Given the description of an element on the screen output the (x, y) to click on. 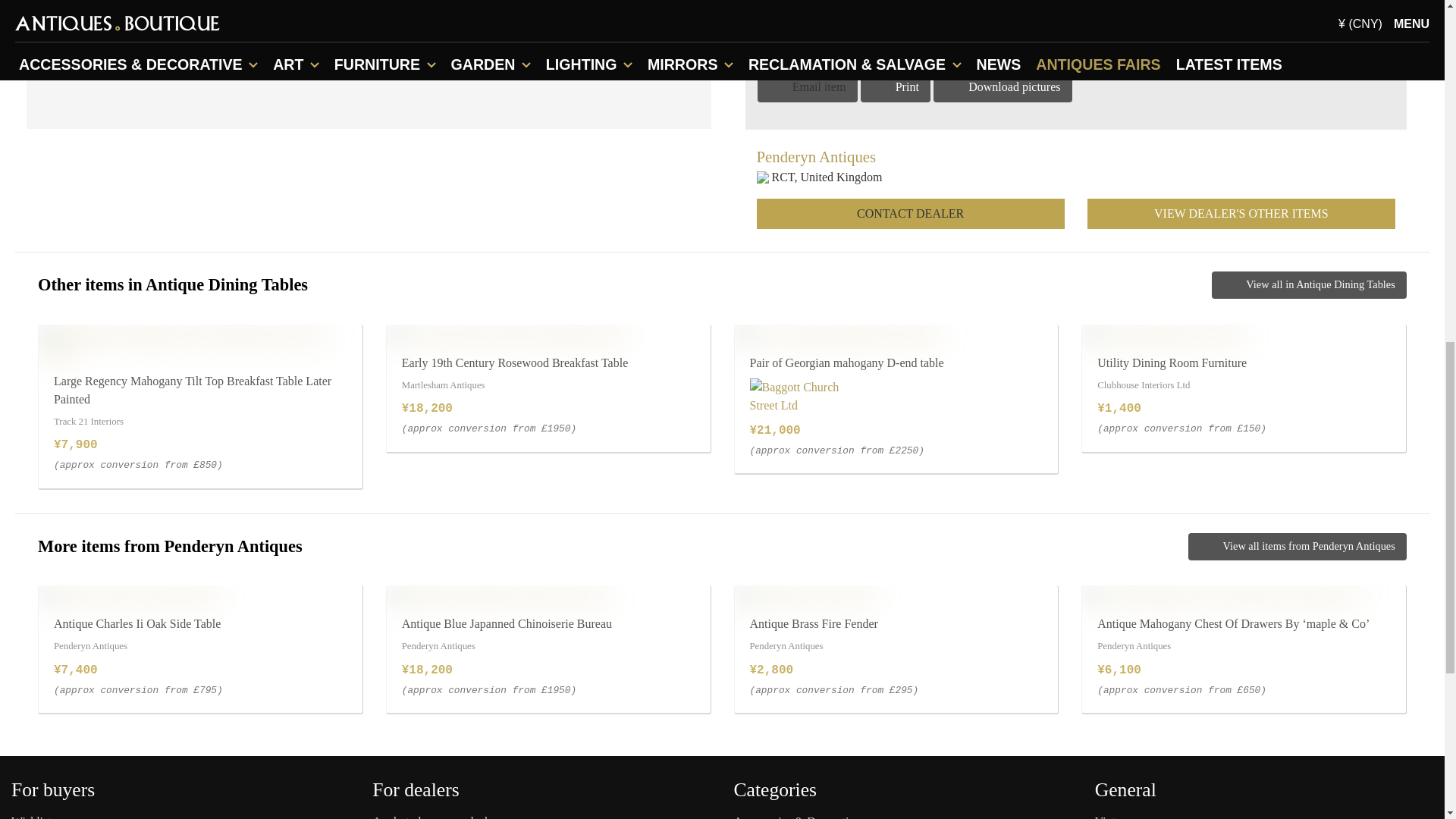
Antique Blue Japanned Chinoiserie Bureau (497, 594)
Pair of Georgian mahogany D-end table (836, 333)
Antique Brass Fire Fender (804, 594)
Antique Charles Ii Oak Side Table (127, 594)
Early 19th Century Rosewood Breakfast Table (506, 333)
Utility Dining Room Furniture (1162, 333)
